Given the description of an element on the screen output the (x, y) to click on. 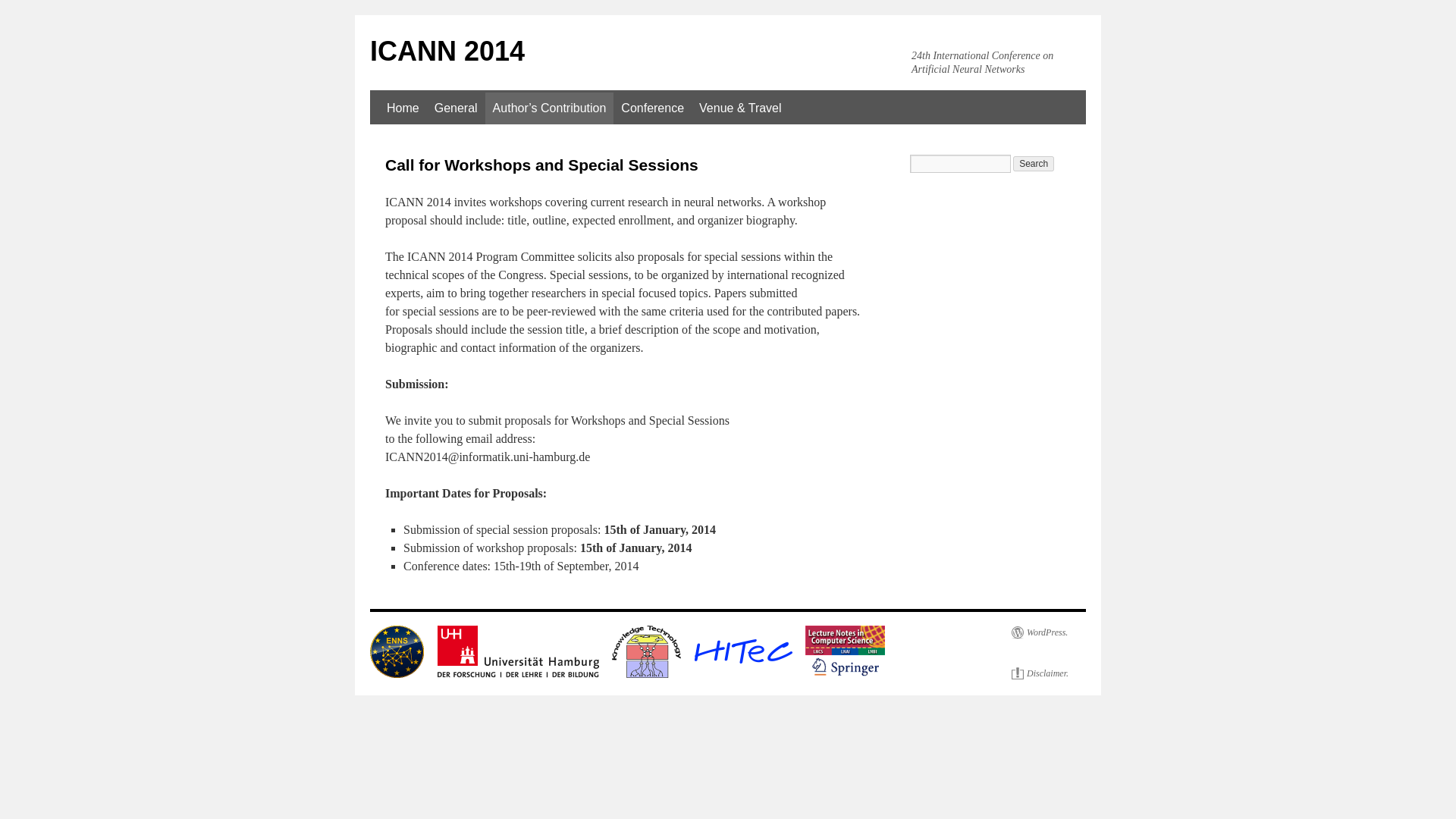
Search (1033, 163)
Disclaimer. (1039, 673)
Semantic Personal Publishing Platform (1039, 632)
Conference (651, 108)
Search (1033, 163)
WordPress. (1039, 632)
General (455, 108)
ICANN 2014 (446, 51)
Home (402, 108)
ICANN 2014 (446, 51)
